Given the description of an element on the screen output the (x, y) to click on. 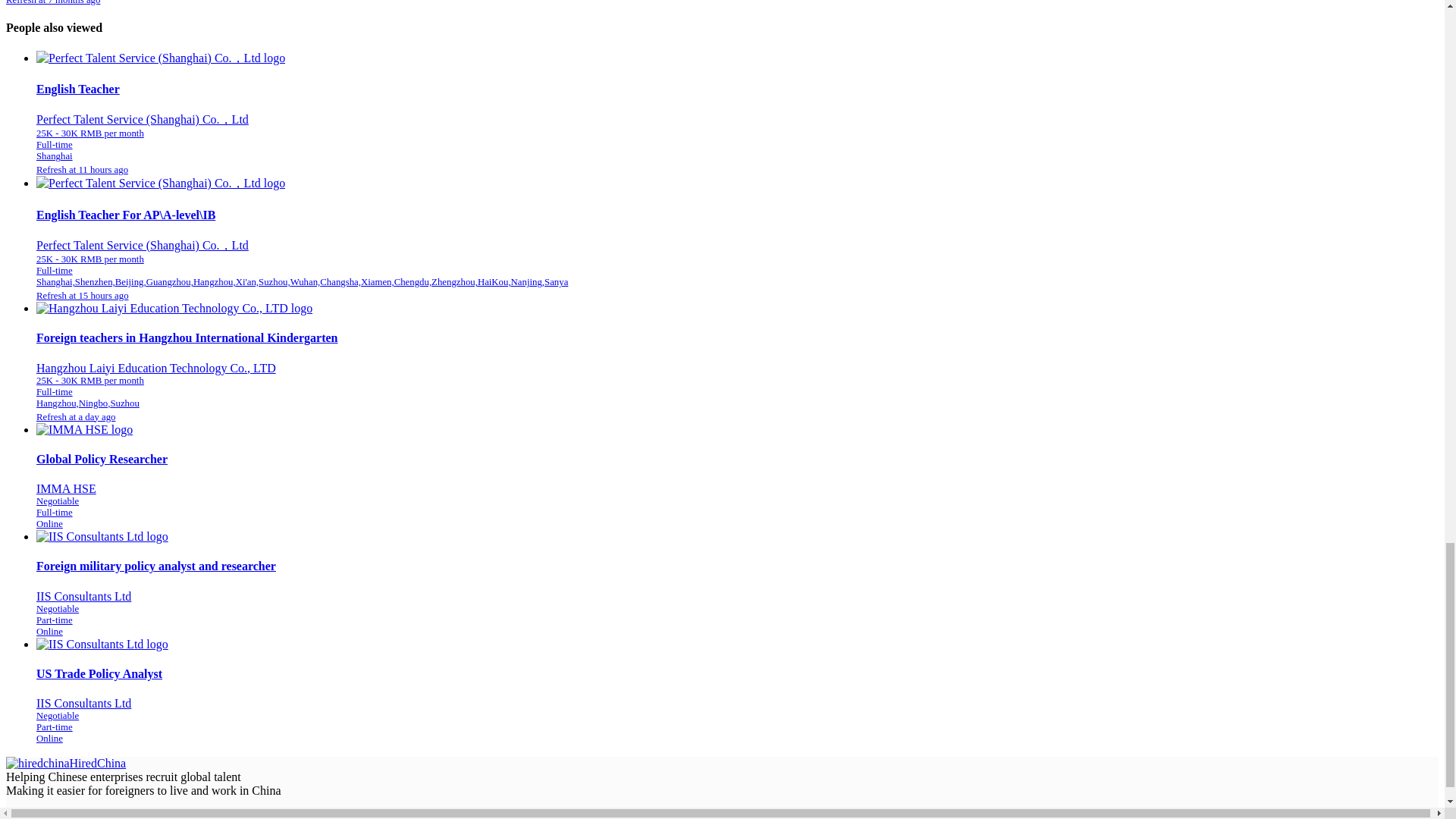
hiredchina (65, 762)
HiredChina (65, 762)
